Given the description of an element on the screen output the (x, y) to click on. 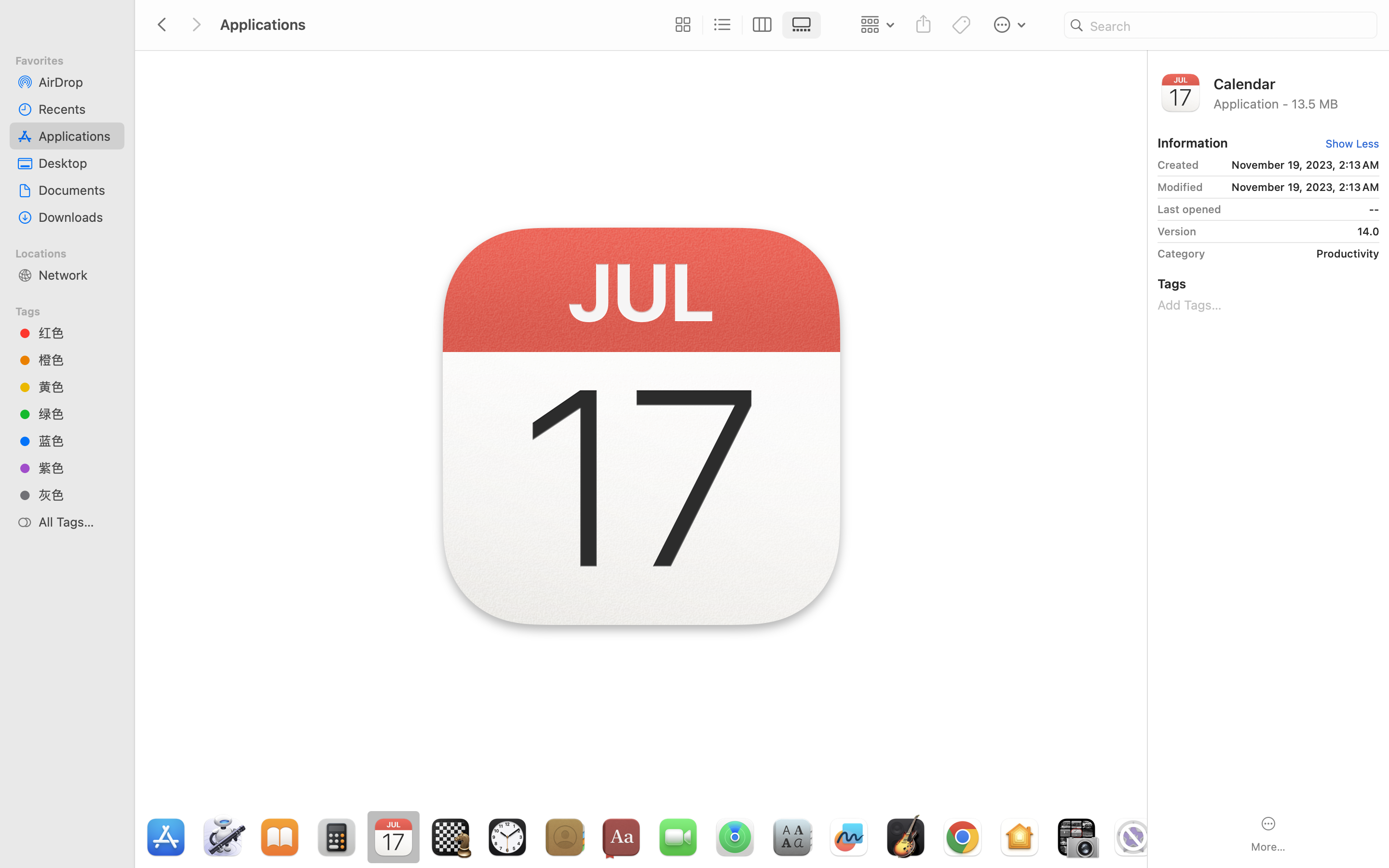
AirDrop Element type: AXStaticText (77, 81)
紫色 Element type: AXStaticText (77, 467)
红色 Element type: AXStaticText (77, 332)
Recents Element type: AXStaticText (77, 108)
Category Element type: AXStaticText (1180, 253)
